Given the description of an element on the screen output the (x, y) to click on. 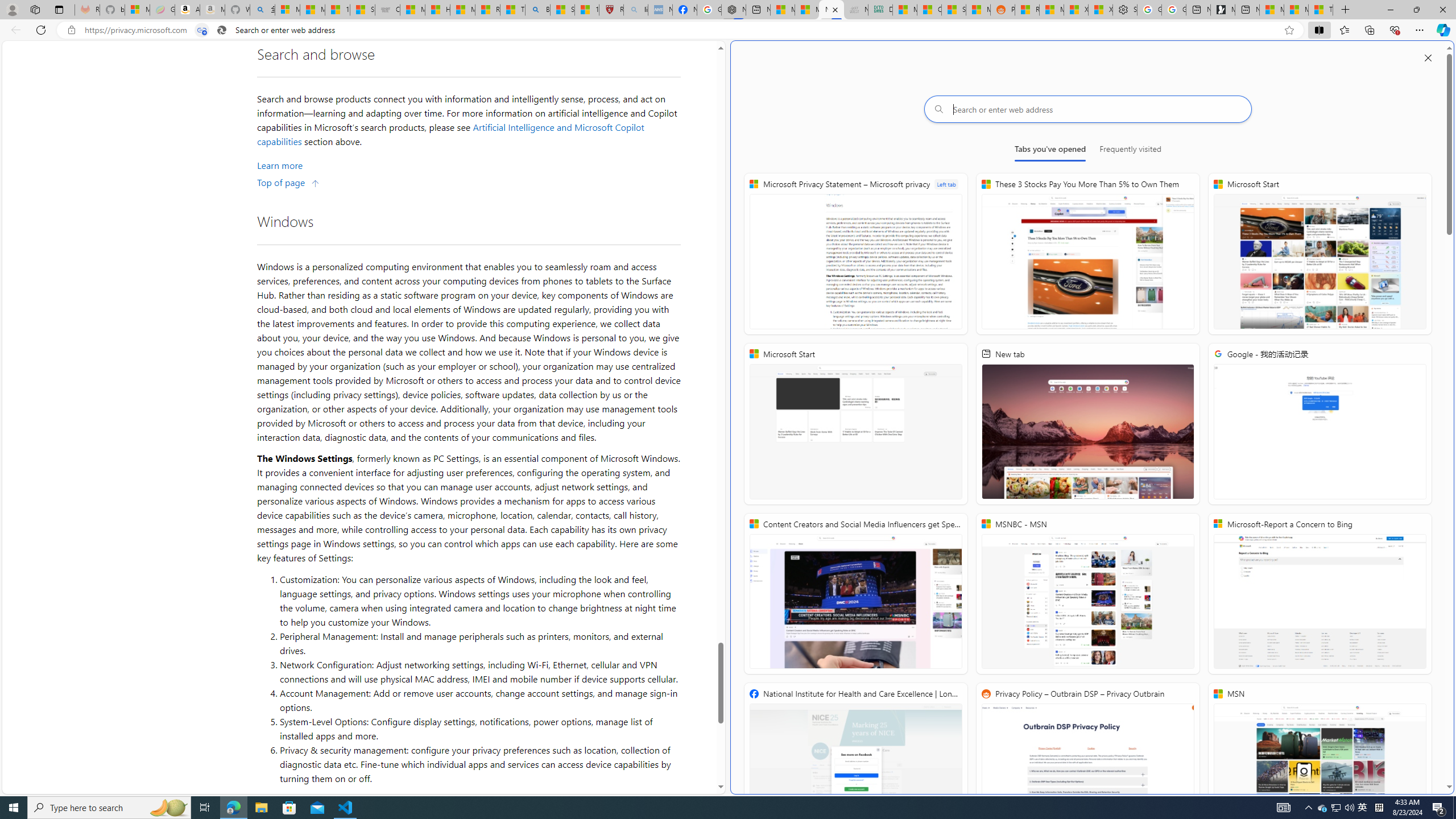
DITOGAMES AG Imprint (879, 9)
Robert H. Shmerling, MD - Harvard Health (611, 9)
Stocks - MSN (953, 9)
12 Popular Science Lies that Must be Corrected (586, 9)
These 3 Stocks Pay You More Than 5% to Own Them (1087, 253)
Science - MSN (562, 9)
